Given the description of an element on the screen output the (x, y) to click on. 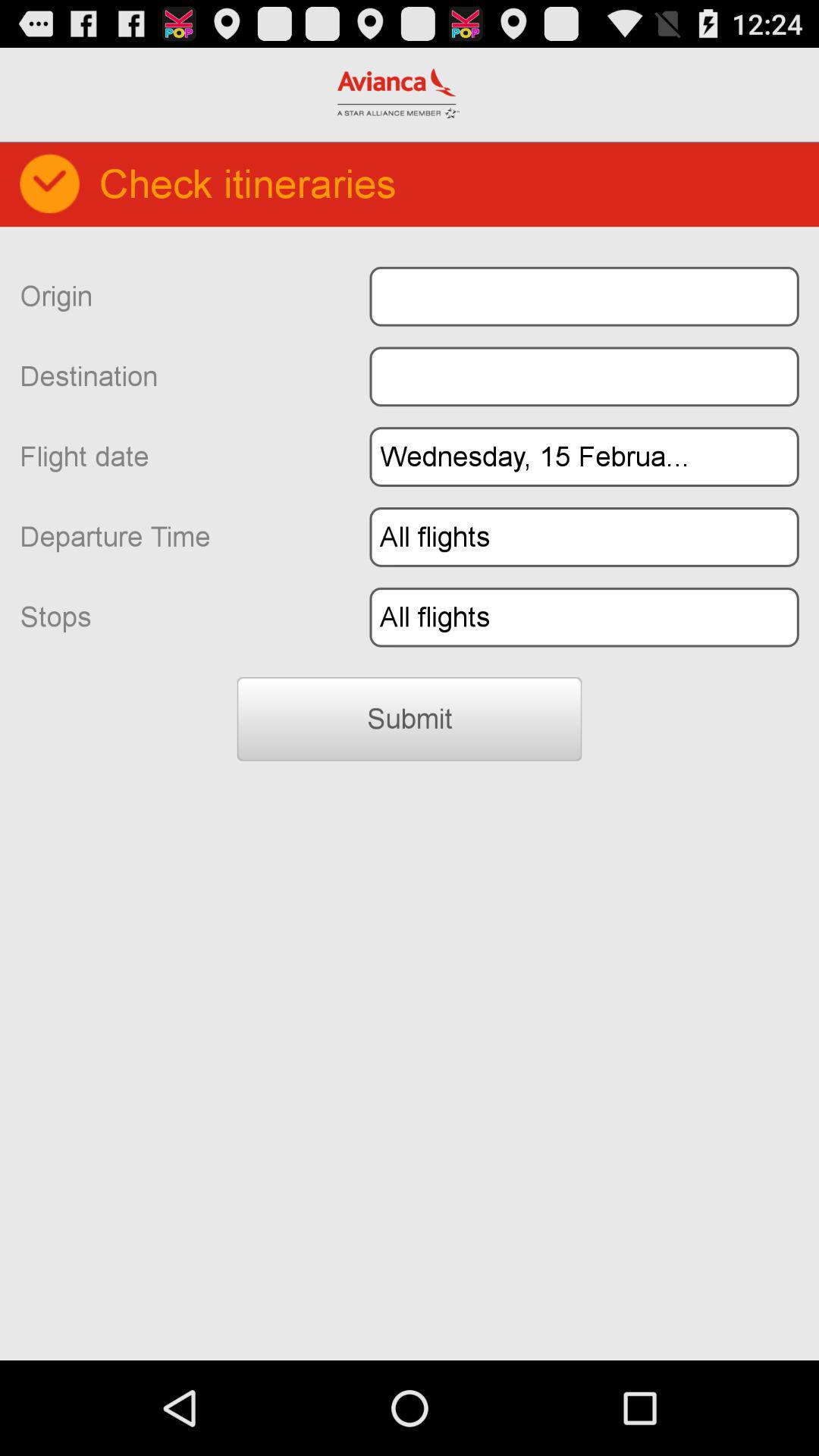
turn off the item to the right of the origin icon (584, 296)
